Given the description of an element on the screen output the (x, y) to click on. 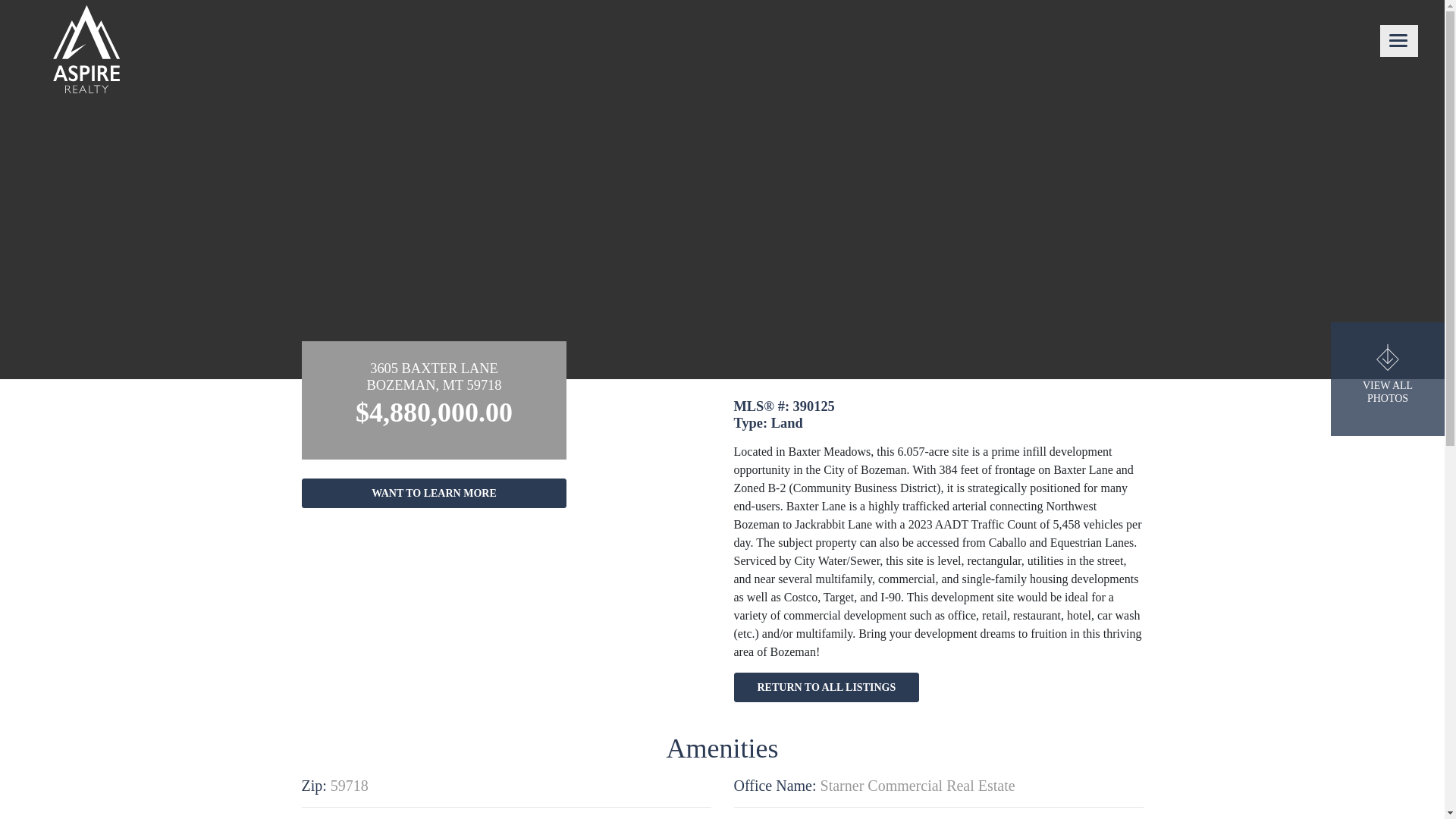
WANT TO LEARN MORE (434, 492)
RETURN TO ALL LISTINGS (826, 686)
